Given the description of an element on the screen output the (x, y) to click on. 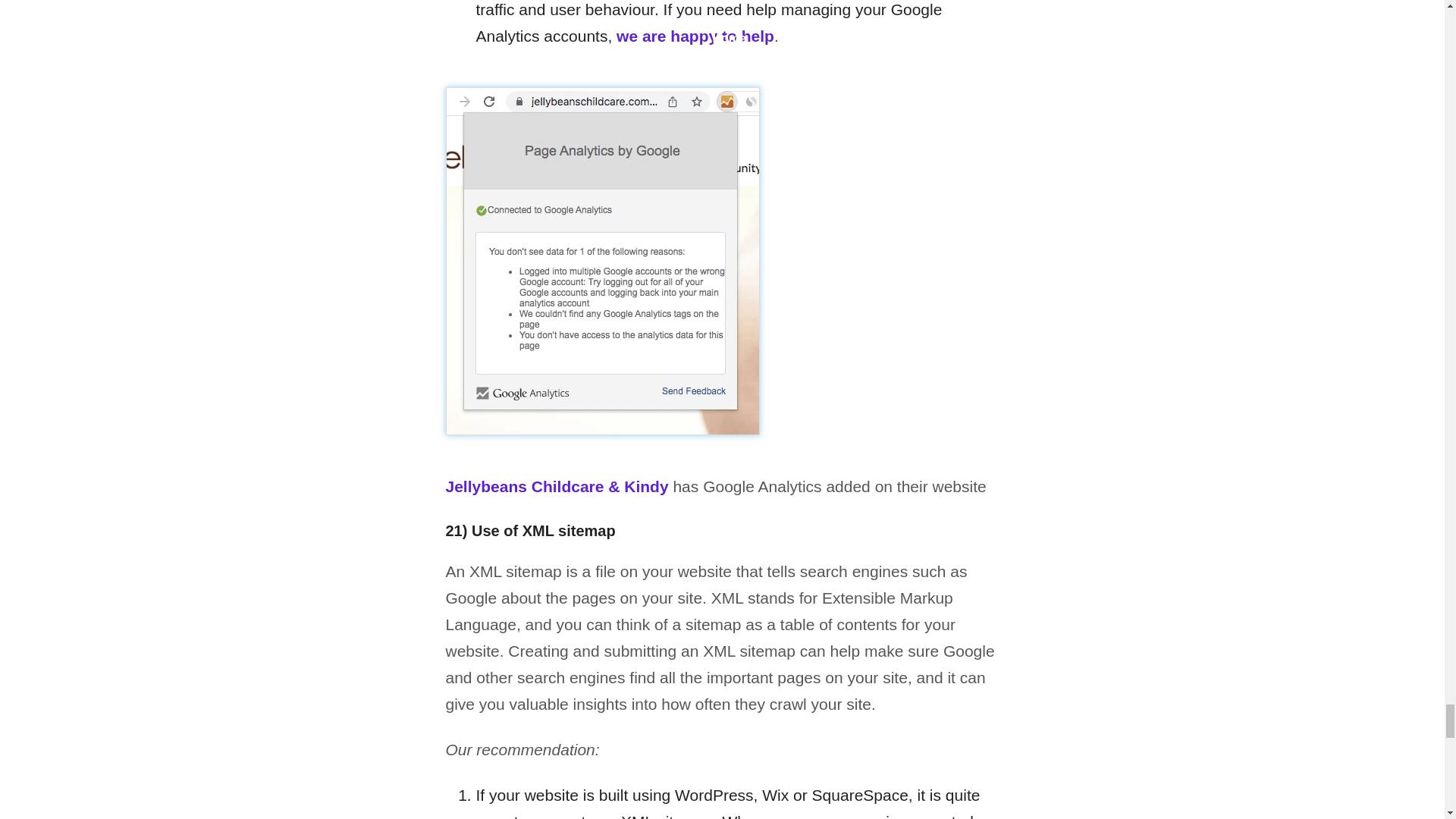
we are happy to help (694, 36)
